Given the description of an element on the screen output the (x, y) to click on. 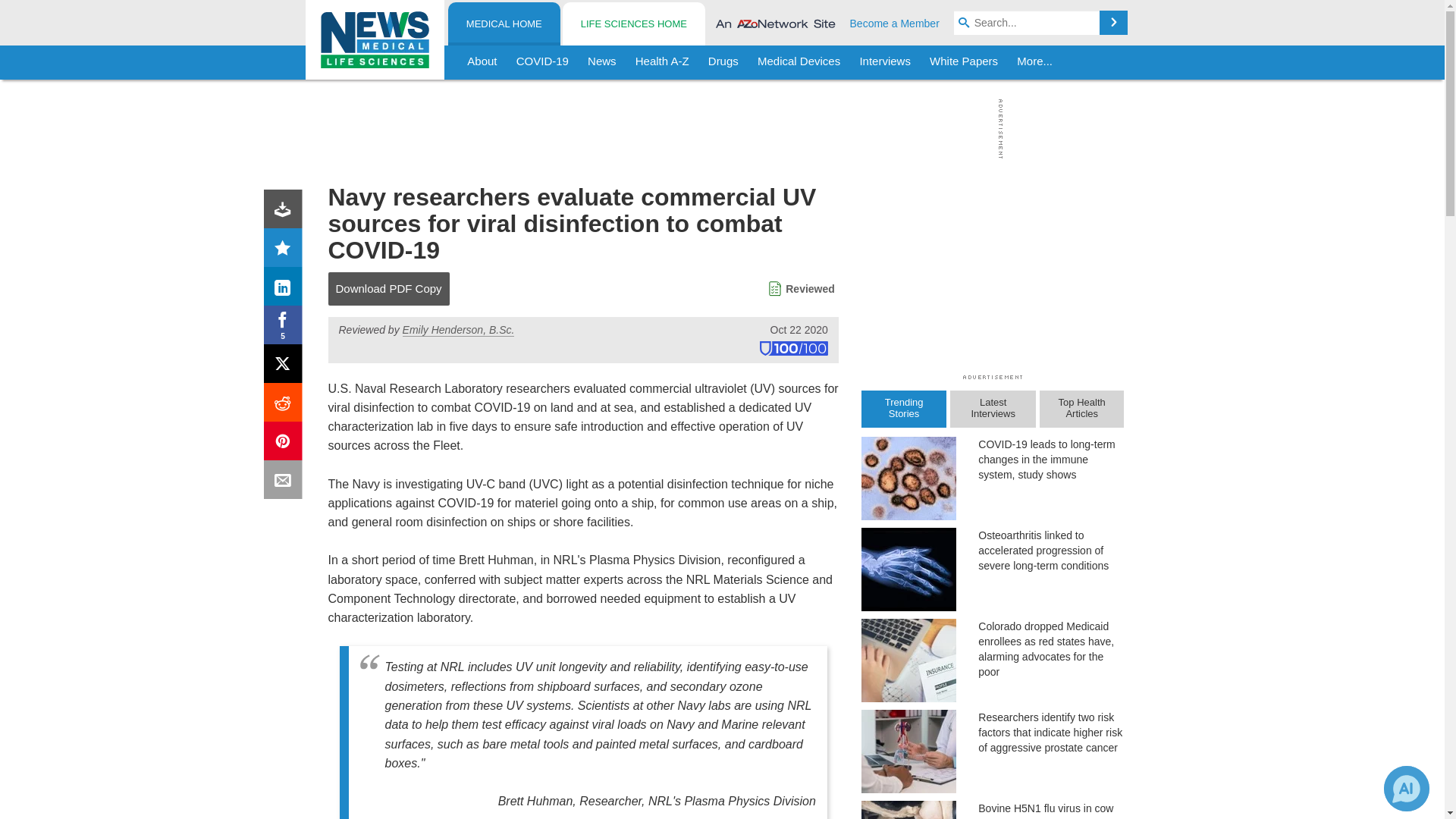
COVID-19 (542, 62)
Download PDF copy (285, 212)
3rd party ad content (718, 128)
News (601, 62)
MEDICAL HOME (504, 23)
More... (1035, 62)
Search (1112, 22)
LinkedIn (285, 289)
About (482, 62)
X (285, 366)
White Papers (963, 62)
Rating (285, 250)
Medical Devices (798, 62)
Pinterest (285, 443)
Interviews (884, 62)
